Given the description of an element on the screen output the (x, y) to click on. 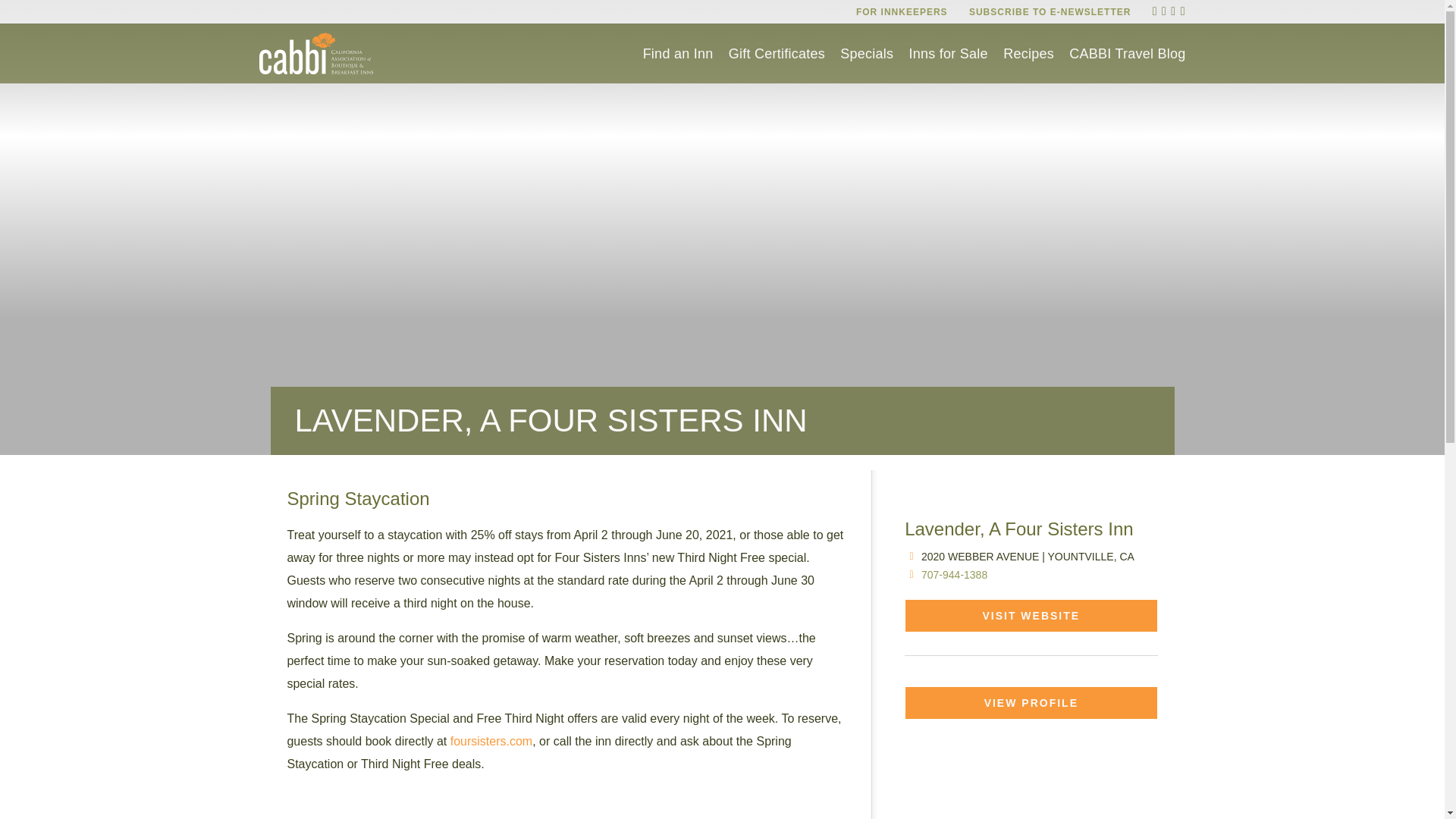
SUBSCRIBE TO E-NEWSLETTER (1050, 11)
707-944-1388 (954, 574)
Gift Certificates (777, 53)
foursisters.com (490, 740)
CABBI Travel Blog (1126, 53)
VISIT WEBSITE (1030, 615)
Specials (866, 53)
VIEW PROFILE (1030, 702)
FOR INNKEEPERS (901, 11)
Recipes (1028, 53)
